Given the description of an element on the screen output the (x, y) to click on. 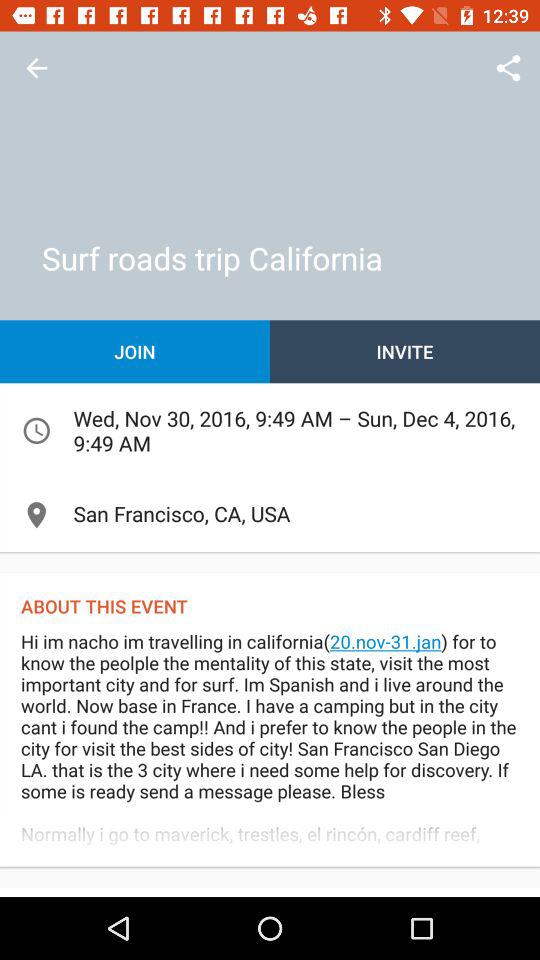
select invite item (405, 351)
